Given the description of an element on the screen output the (x, y) to click on. 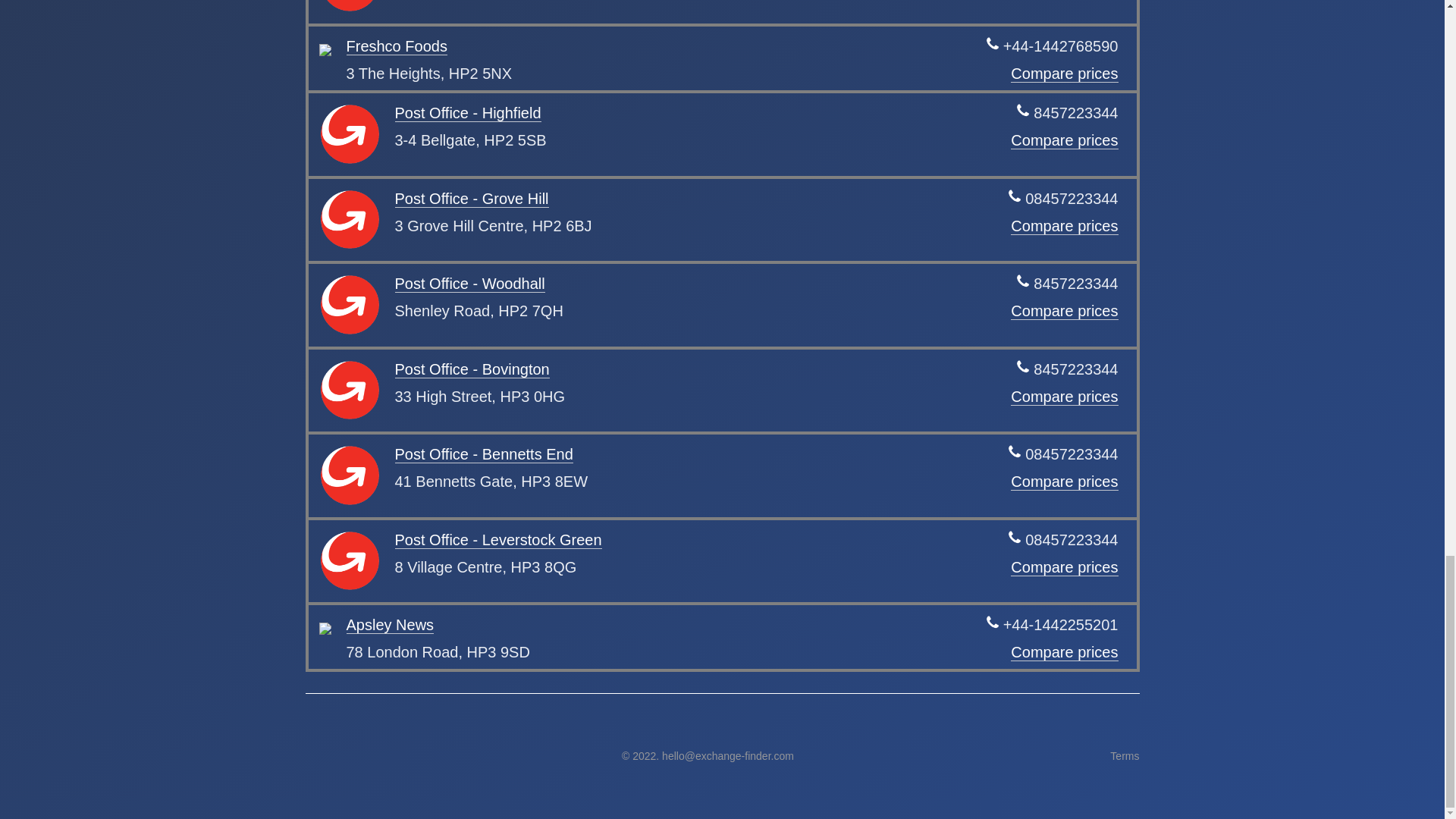
Compare prices (1064, 73)
Post Office - Highfield (467, 113)
Freshco Foods (396, 46)
